Given the description of an element on the screen output the (x, y) to click on. 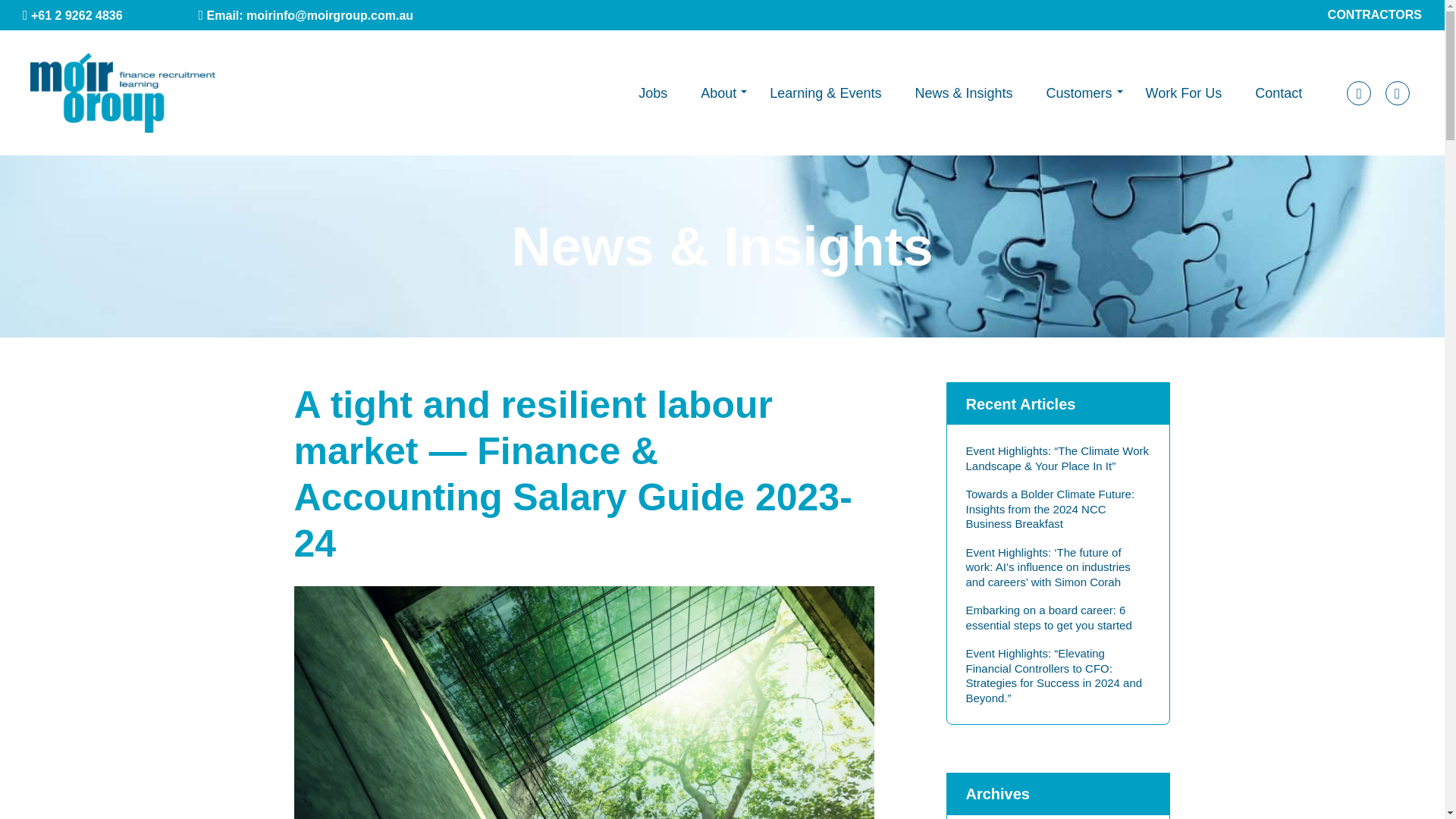
Customers (1078, 93)
Contact (1279, 93)
Jobs (652, 93)
Work For Us (1183, 93)
About (718, 93)
CONTRACTORS (1374, 14)
